Given the description of an element on the screen output the (x, y) to click on. 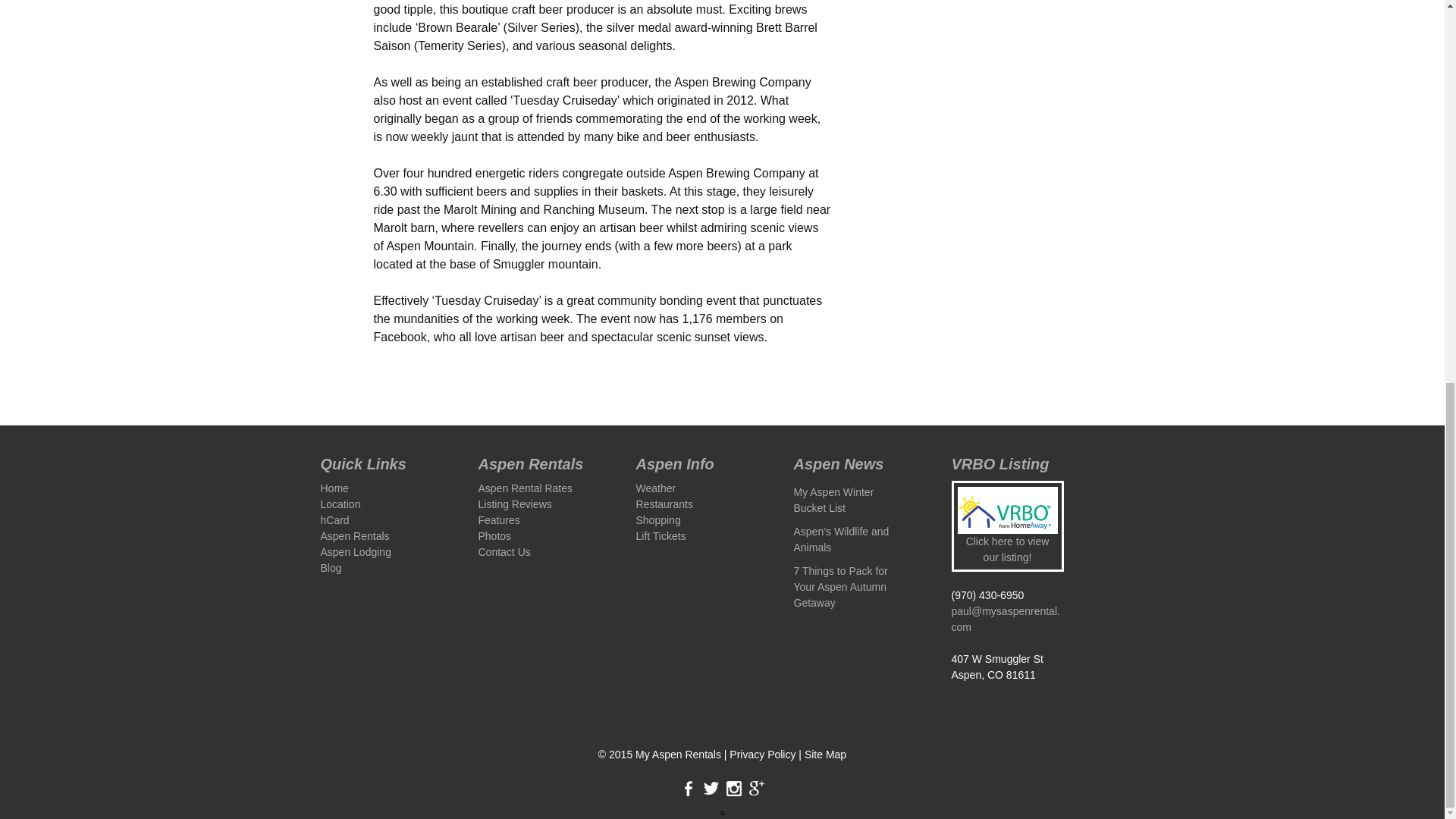
Shopping (656, 520)
Aspen Rental Rates (524, 488)
Lift Tickets (659, 535)
Weather (654, 488)
Location (339, 503)
Photos (494, 535)
Check Out our Feature in VRBO (1006, 509)
My Aspen Winter Bucket List (833, 500)
Listing Reviews (514, 503)
Blog (330, 567)
hCard (334, 520)
Restaurants (663, 503)
Aspen Lodging (355, 551)
Features (498, 520)
Home (333, 488)
